Given the description of an element on the screen output the (x, y) to click on. 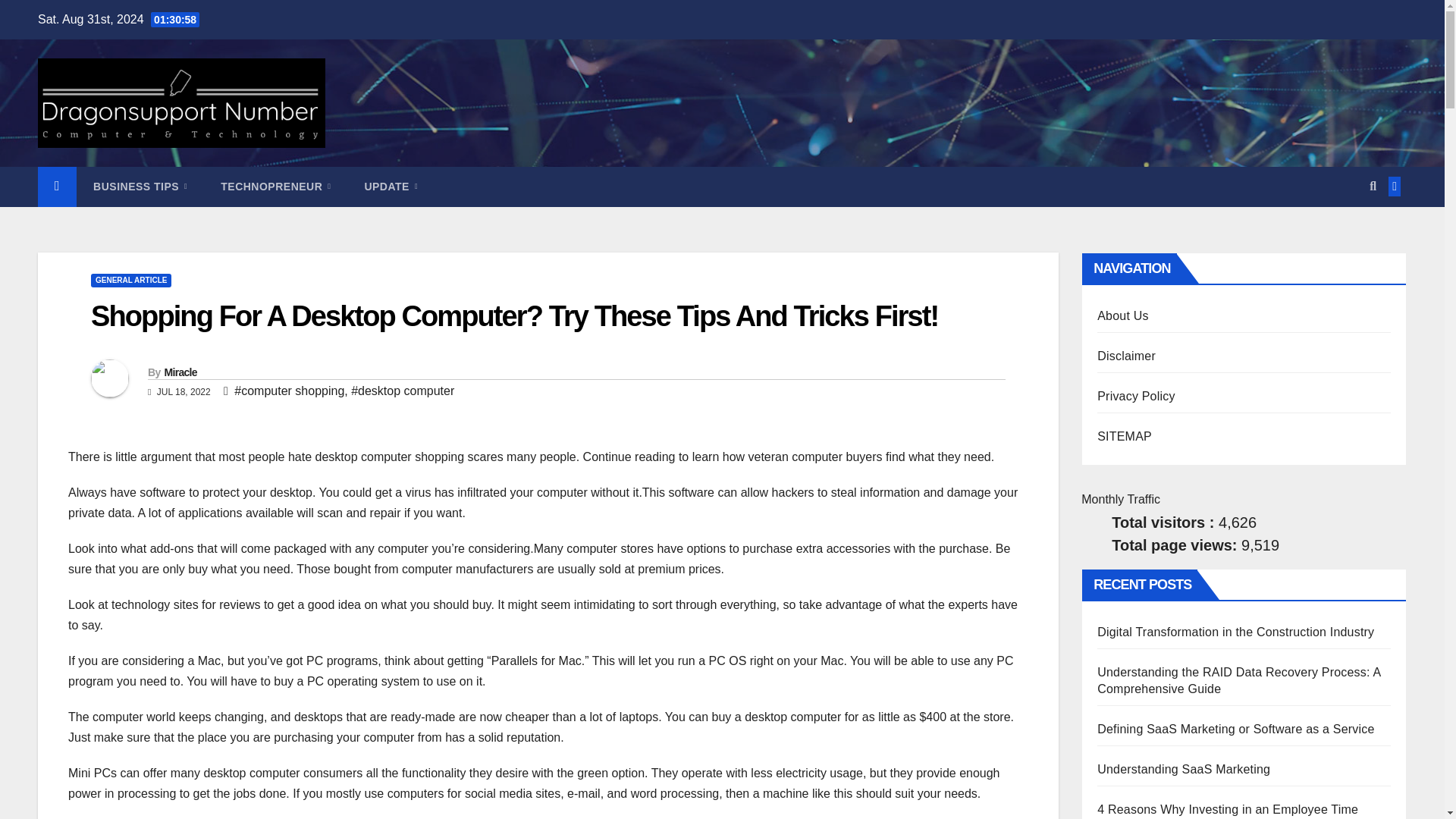
GENERAL ARTICLE (130, 280)
BUSINESS TIPS (140, 186)
Technopreneur (275, 186)
TECHNOPRENEUR (275, 186)
Update (390, 186)
UPDATE (390, 186)
Miracle (179, 372)
Business Tips (140, 186)
